Given the description of an element on the screen output the (x, y) to click on. 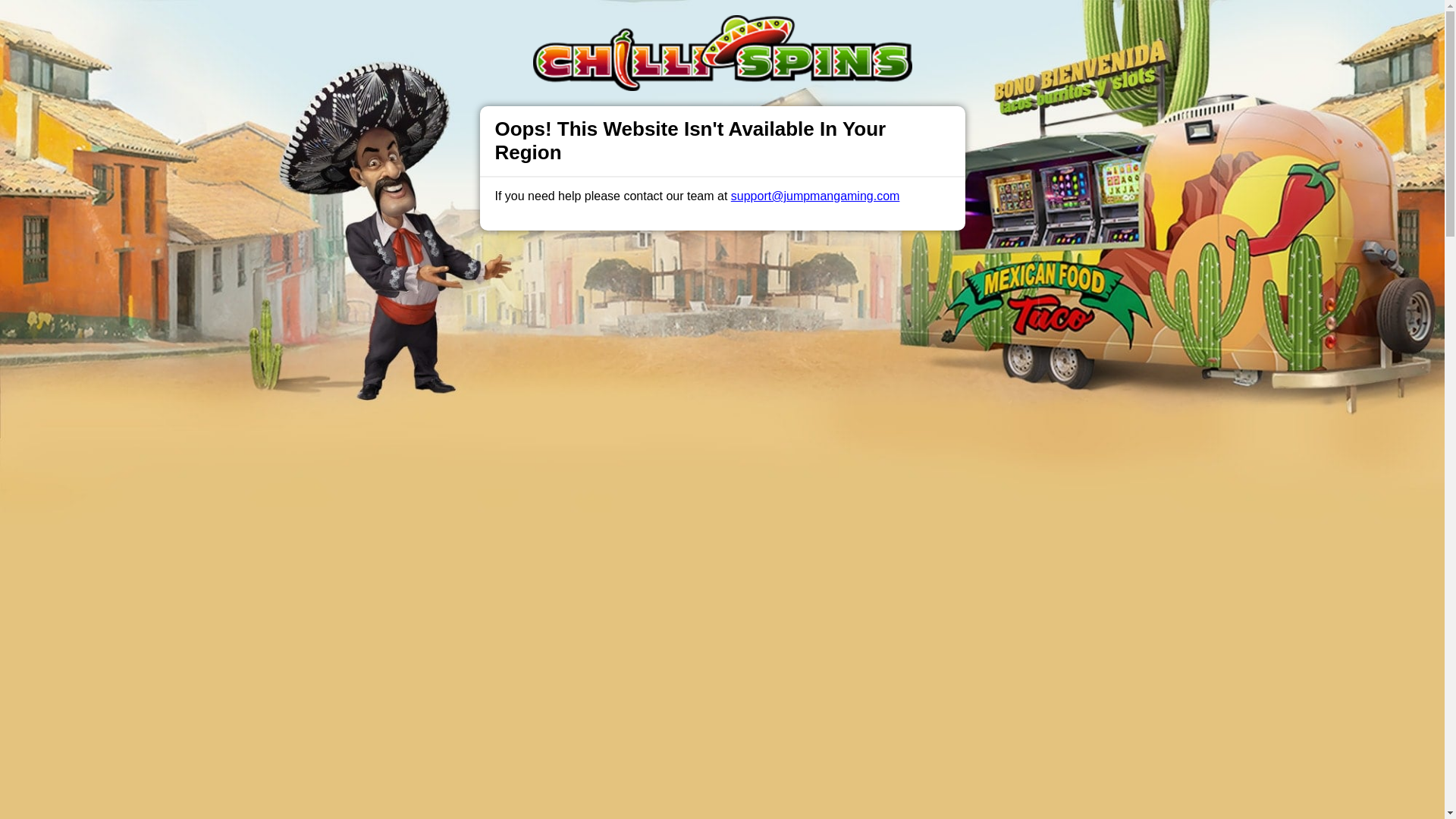
All Games (605, 26)
Slots (411, 26)
Trophies (539, 26)
Promotions (469, 26)
Login (963, 26)
Chilli Spins (529, 211)
Join Now (1054, 26)
